Given the description of an element on the screen output the (x, y) to click on. 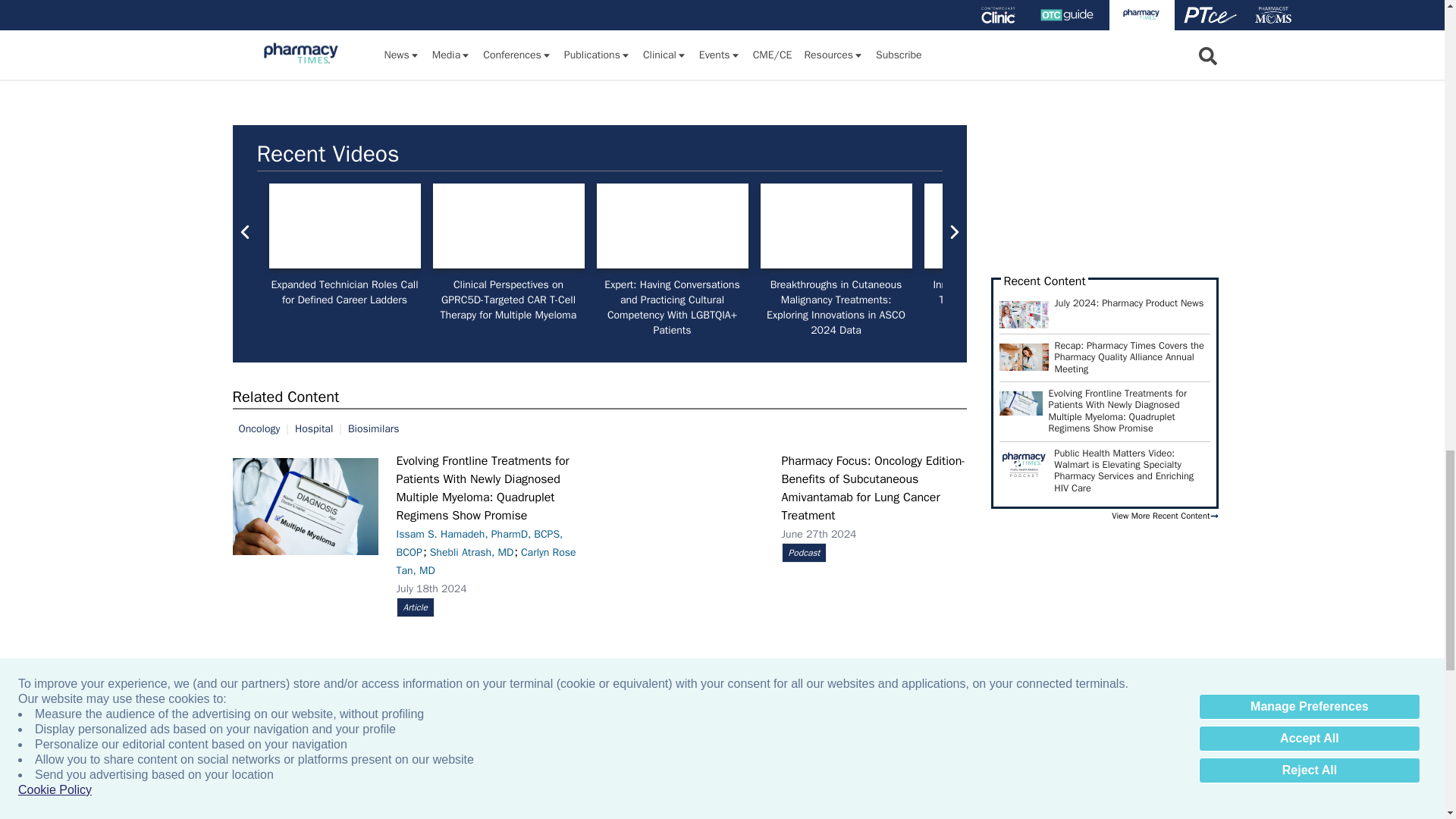
Expanded Technician Roles Call for Defined Career Ladders (343, 226)
